Given the description of an element on the screen output the (x, y) to click on. 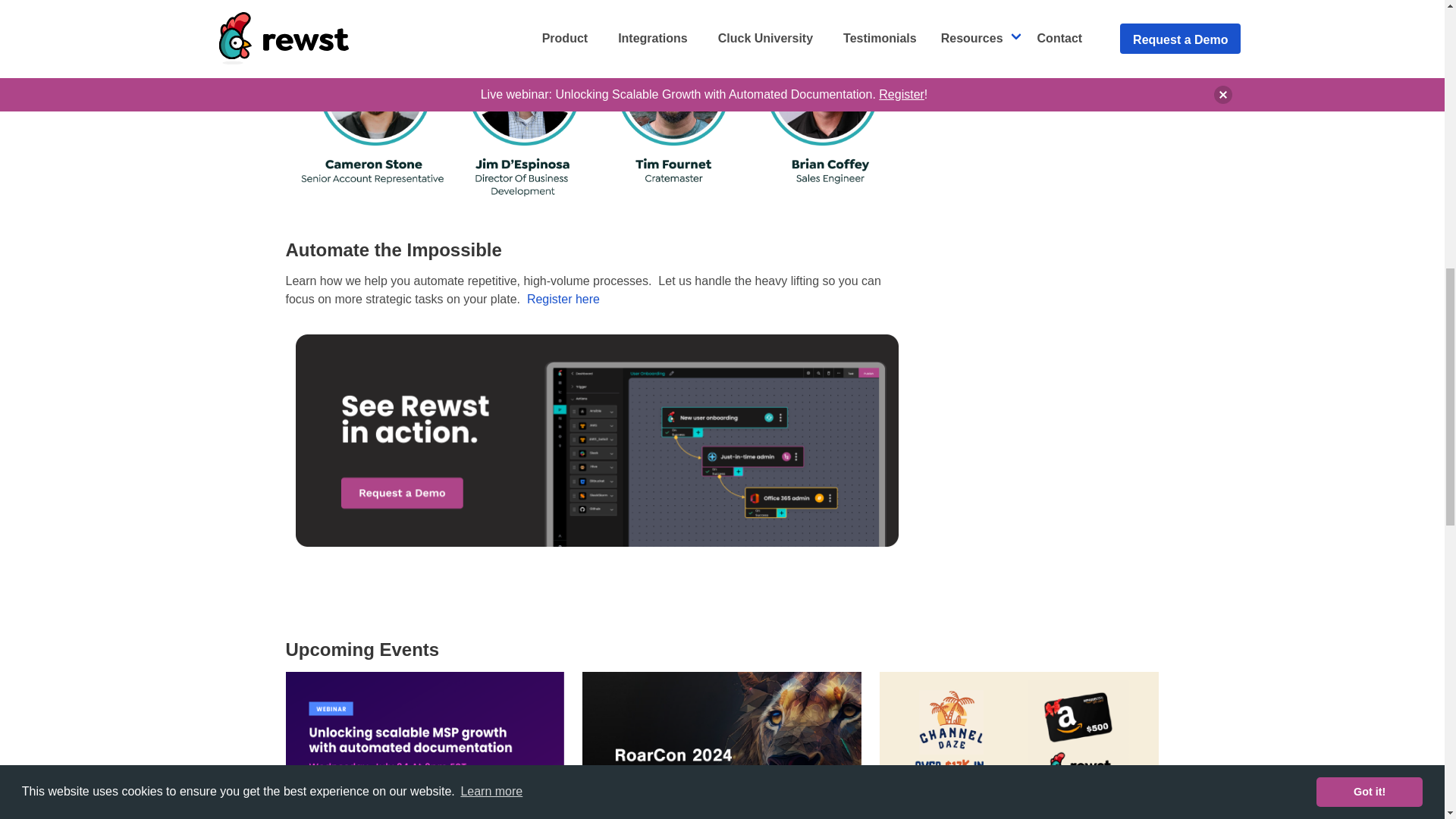
Register here (563, 298)
